Given the description of an element on the screen output the (x, y) to click on. 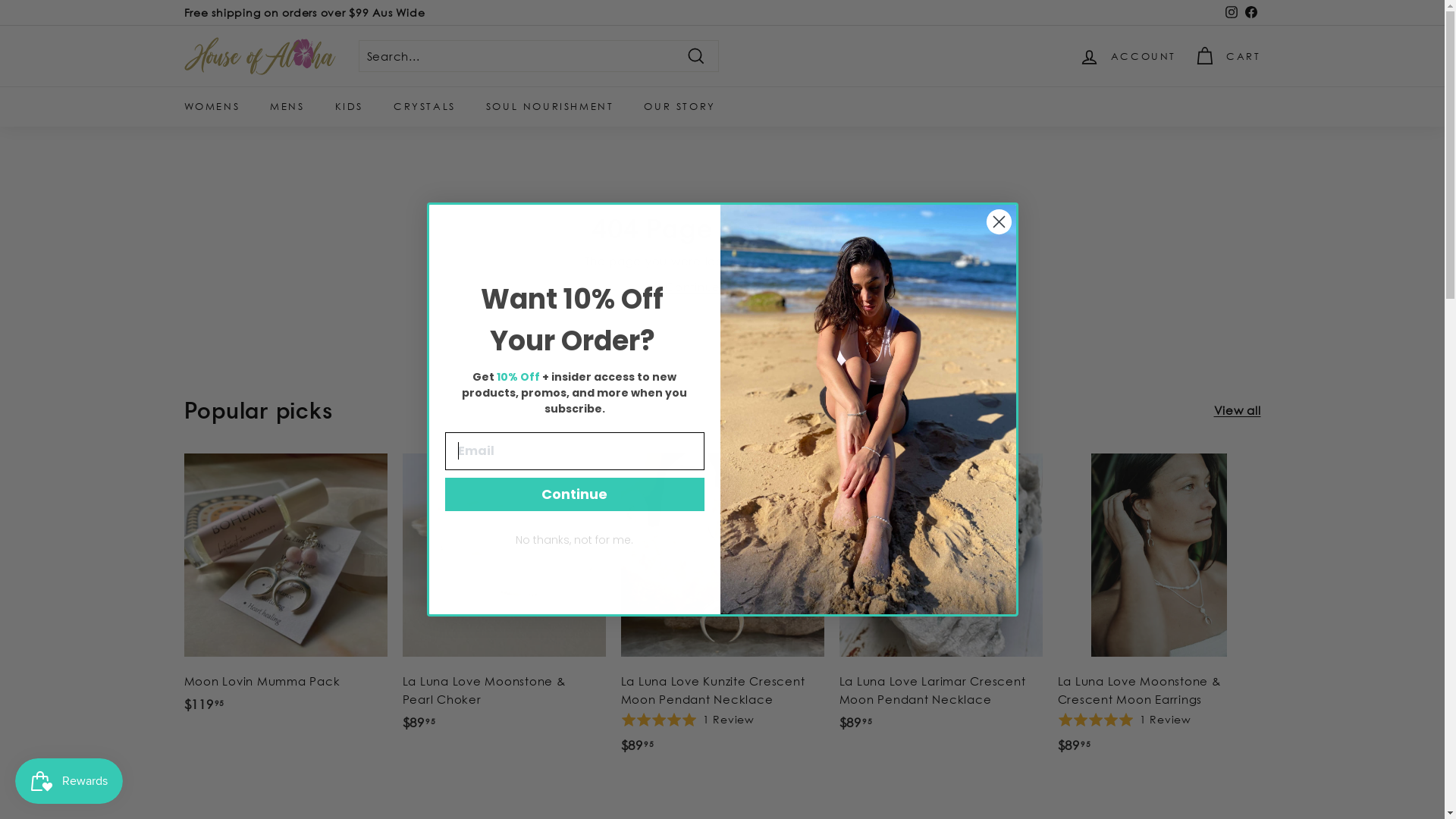
Skip to content Element type: text (0, 0)
WOMENS Element type: text (211, 106)
ACCOUNT Element type: text (1127, 55)
No thanks, not for me. Element type: text (573, 539)
View all Element type: text (1236, 410)
Continue shopping Element type: text (722, 286)
KIDS Element type: text (349, 106)
Moon Lovin Mumma Pack
$11995
$119.95 Element type: text (284, 591)
OUR STORY Element type: text (679, 106)
SOUL NOURISHMENT Element type: text (549, 106)
Submit Element type: text (28, 15)
Facebook Element type: text (1250, 12)
La Luna Love Moonstone & Pearl Choker
$8995
$89.95 Element type: text (503, 600)
MENS Element type: text (286, 106)
Continue Element type: text (573, 494)
Instagram Element type: text (1230, 12)
CRYSTALS Element type: text (424, 106)
Smile.io Rewards Program Launcher Element type: hover (68, 780)
